Given the description of an element on the screen output the (x, y) to click on. 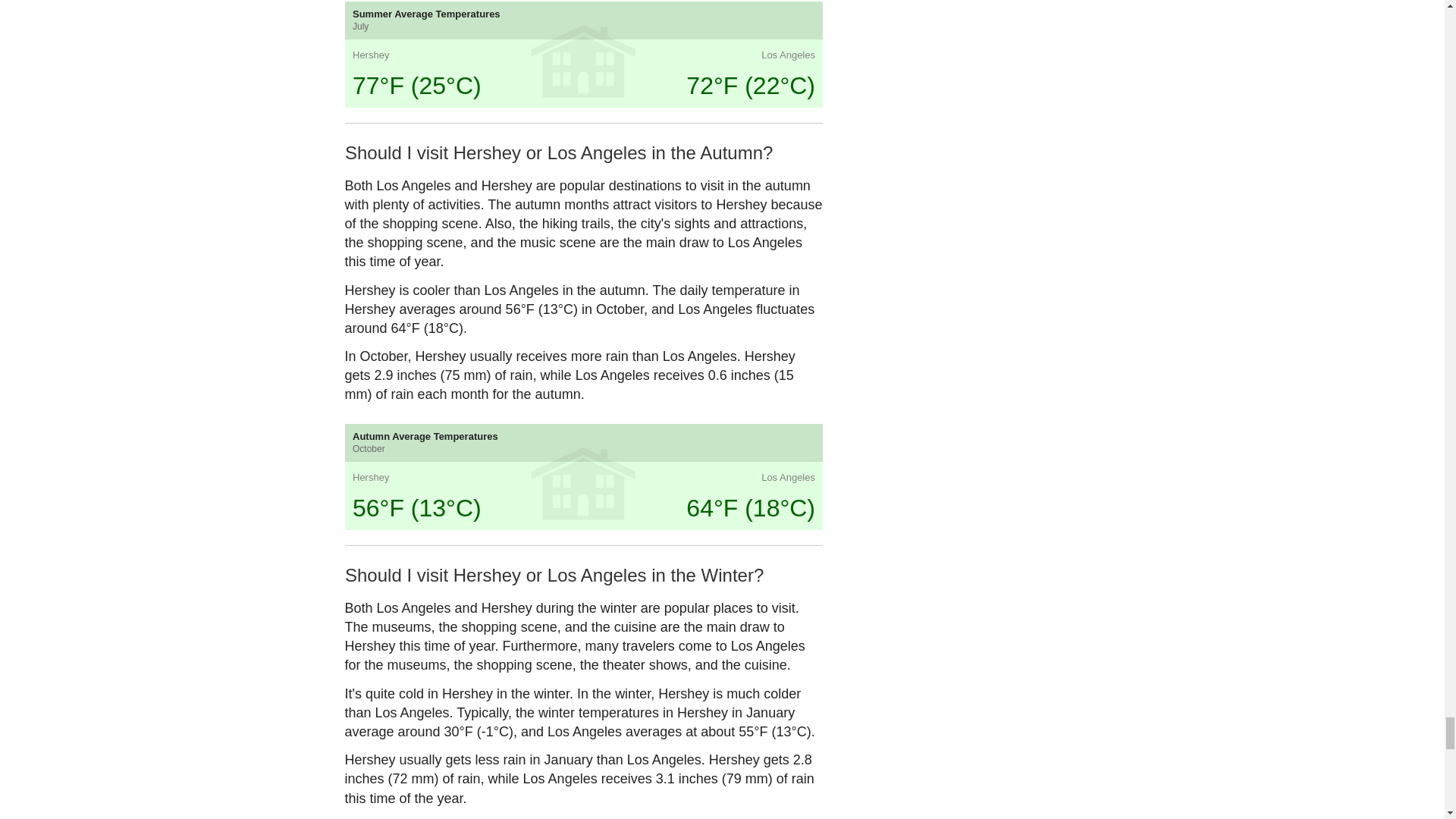
Travel Costs for Phoenix (522, 510)
The Best VRBO Vacation Rentals in Hollywood (643, 510)
Travel Costs for Houston (522, 435)
Travel Costs for Philadelphia (400, 510)
Travel Costs for Chicago (400, 435)
Travel Costs for Los Angeles (522, 359)
Travel Costs for New York City (400, 359)
